Given the description of an element on the screen output the (x, y) to click on. 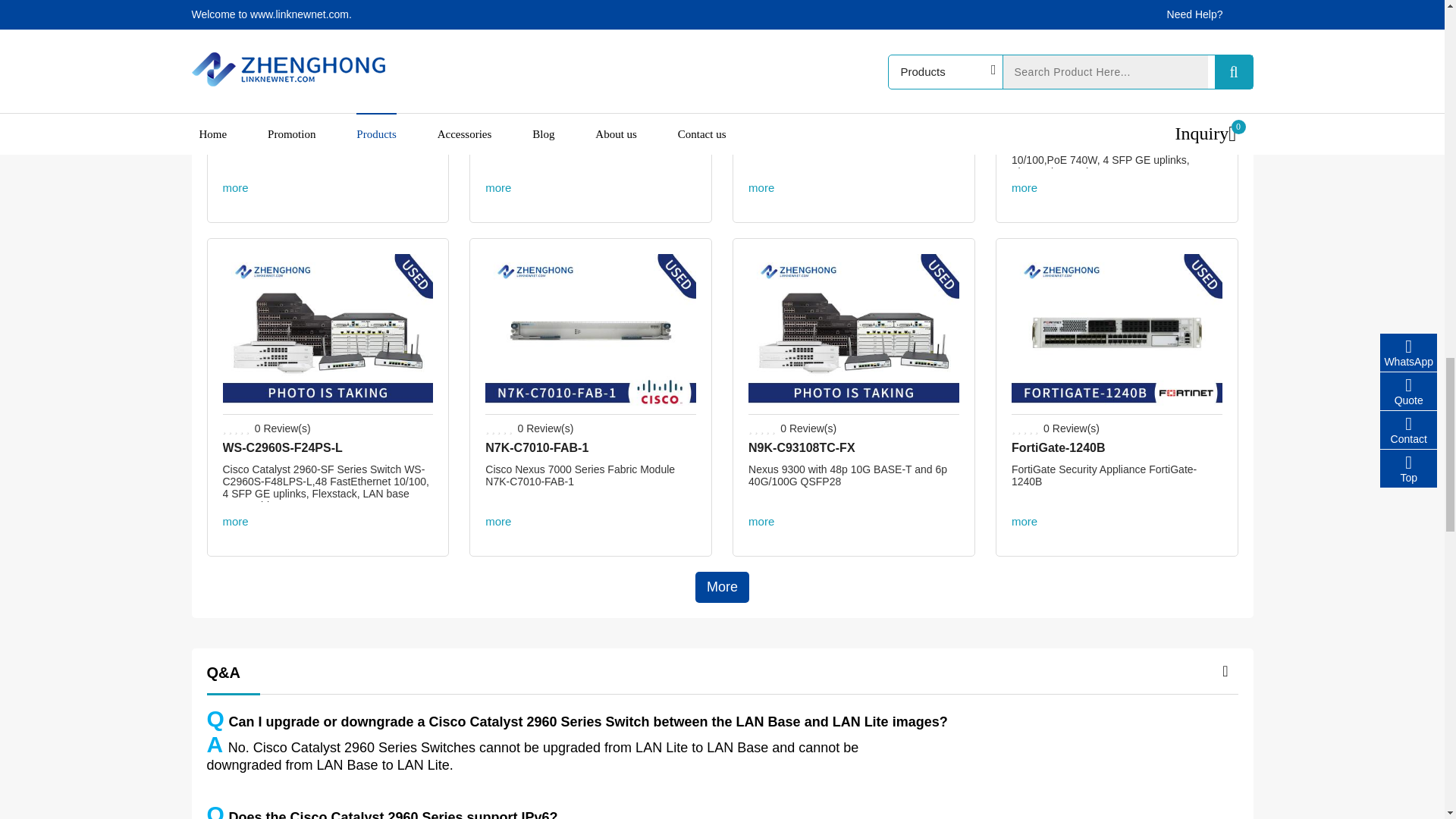
EMC 3.2TB 2.5" 12Gbps SAS SSD Unity XT D4-2SFXL-3200 (528, 113)
Cisco Nexus 7000 Series Fabric Module N7K-C7010-FAB-1 (536, 447)
Cisco Nexus 9000 Series Switch N9K-C93108TC-FX (853, 408)
EMC 1.6TB 2.5" 12Gbps SAS SSD Unity XT D4-2SFXL-1600 (327, 73)
Cisco Nexus 7000 Series Fabric Module N7K-C7010-FAB-1 (589, 408)
F5 BIG-IP 4000 Series Load Balancer F5-BIG-LTM-5000S (780, 113)
 FortiGate Security Appliance  FortiGate-1240B (1117, 408)
Cisco Catalyst 2960-SF Series Switch WS-C2960S-F48FPS-L (1074, 113)
Cisco Catalyst 2960-SF Series Switch WS-C2960S-F48LPS-L (327, 408)
Cisco Catalyst 2960-SF Series Switch WS-C2960S-F48LPS-L (282, 447)
